Given the description of an element on the screen output the (x, y) to click on. 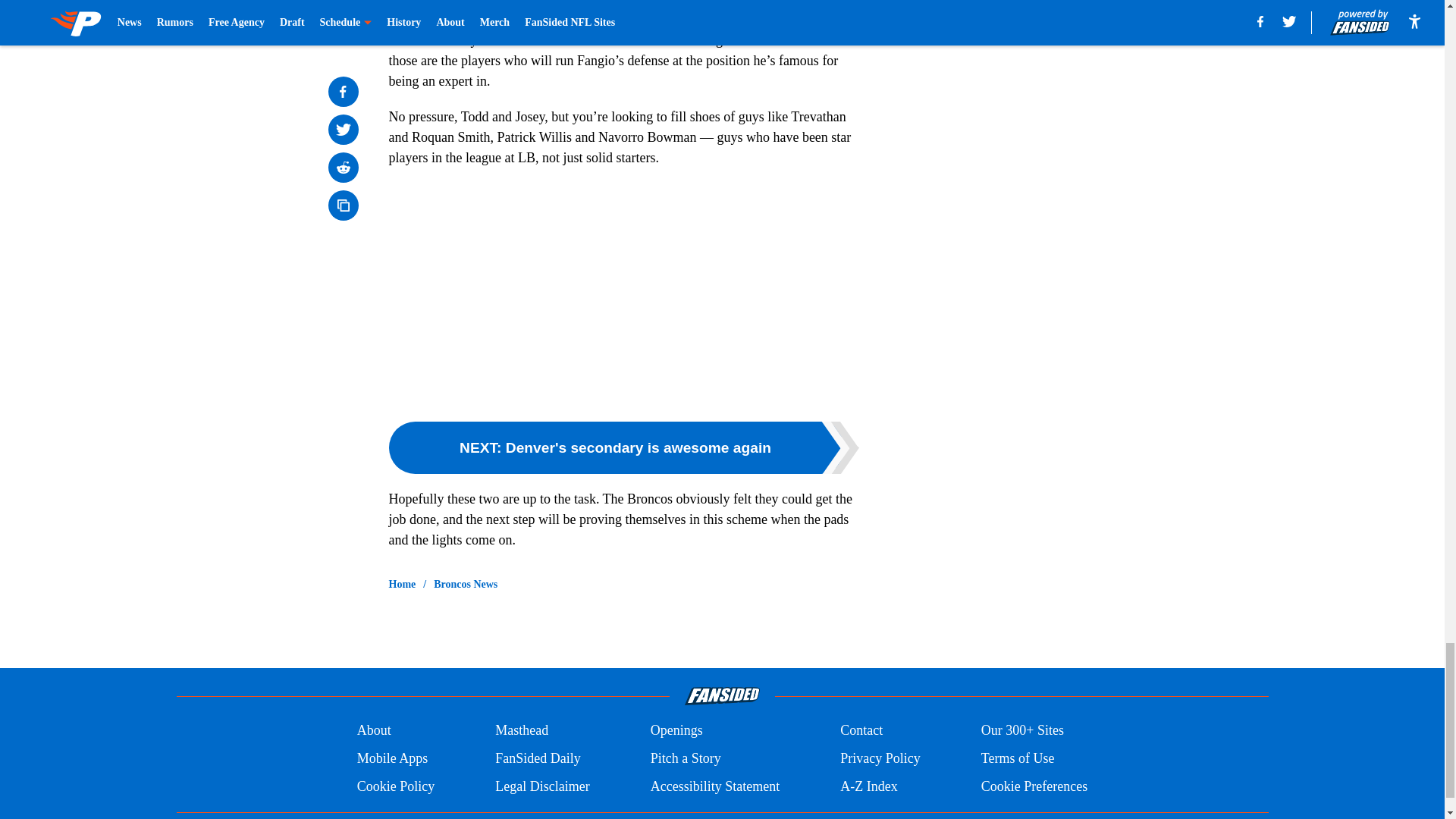
Privacy Policy (880, 758)
Legal Disclaimer (542, 786)
Mobile Apps (392, 758)
Openings (676, 730)
Cookie Preferences (1034, 786)
FanSided Daily (537, 758)
Contact (861, 730)
Pitch a Story (685, 758)
Accessibility Statement (714, 786)
A-Z Index (868, 786)
Home (401, 584)
Masthead (521, 730)
Cookie Policy (395, 786)
Broncos News (465, 584)
Terms of Use (1017, 758)
